Given the description of an element on the screen output the (x, y) to click on. 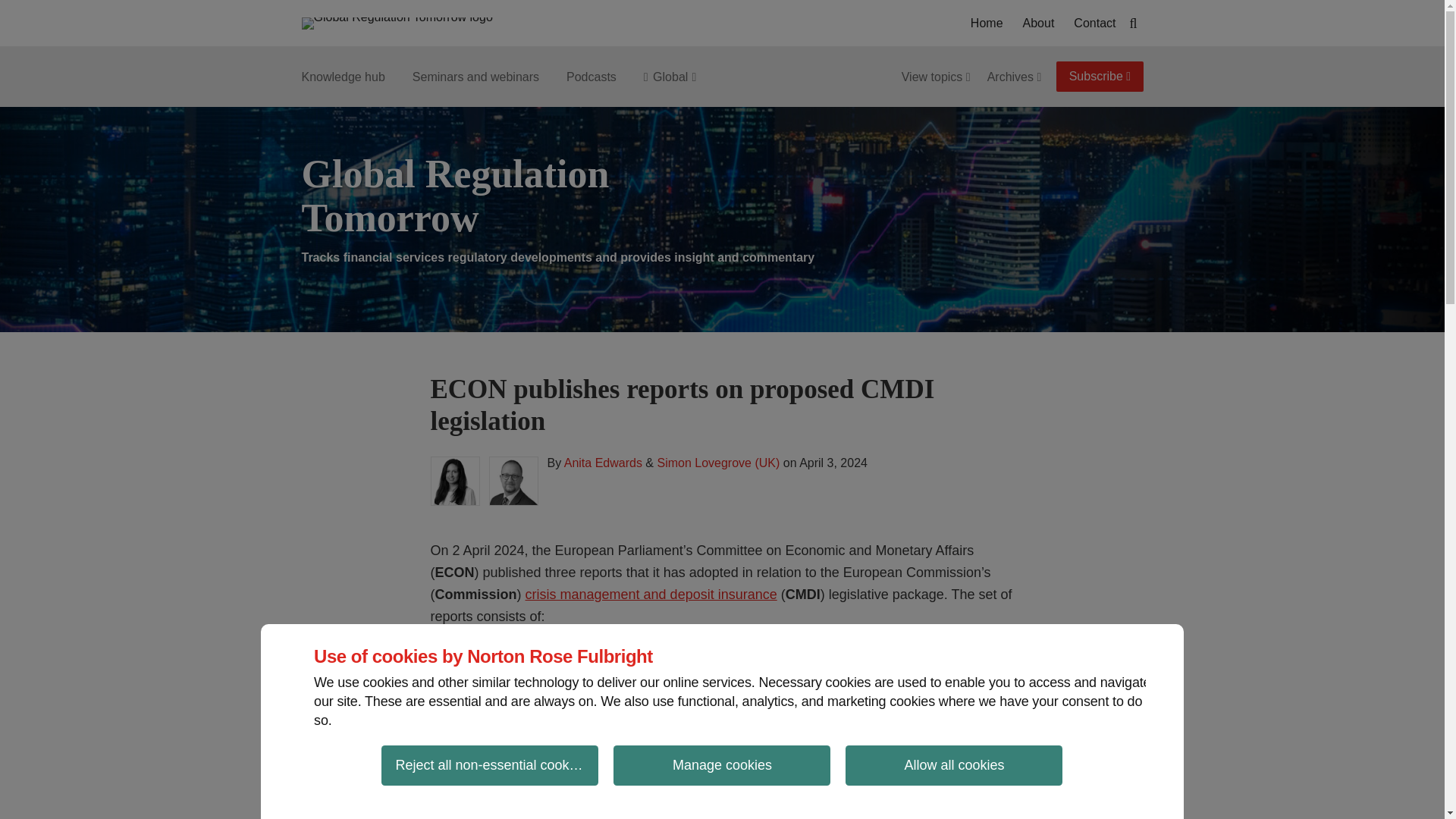
Home (987, 23)
Seminars and webinars (475, 76)
Podcasts (590, 76)
Knowledge hub (343, 76)
Allow all cookies (953, 765)
Manage cookies (720, 765)
About (1038, 23)
Reject all non-essential cookies (489, 765)
Contact (1094, 23)
